Given the description of an element on the screen output the (x, y) to click on. 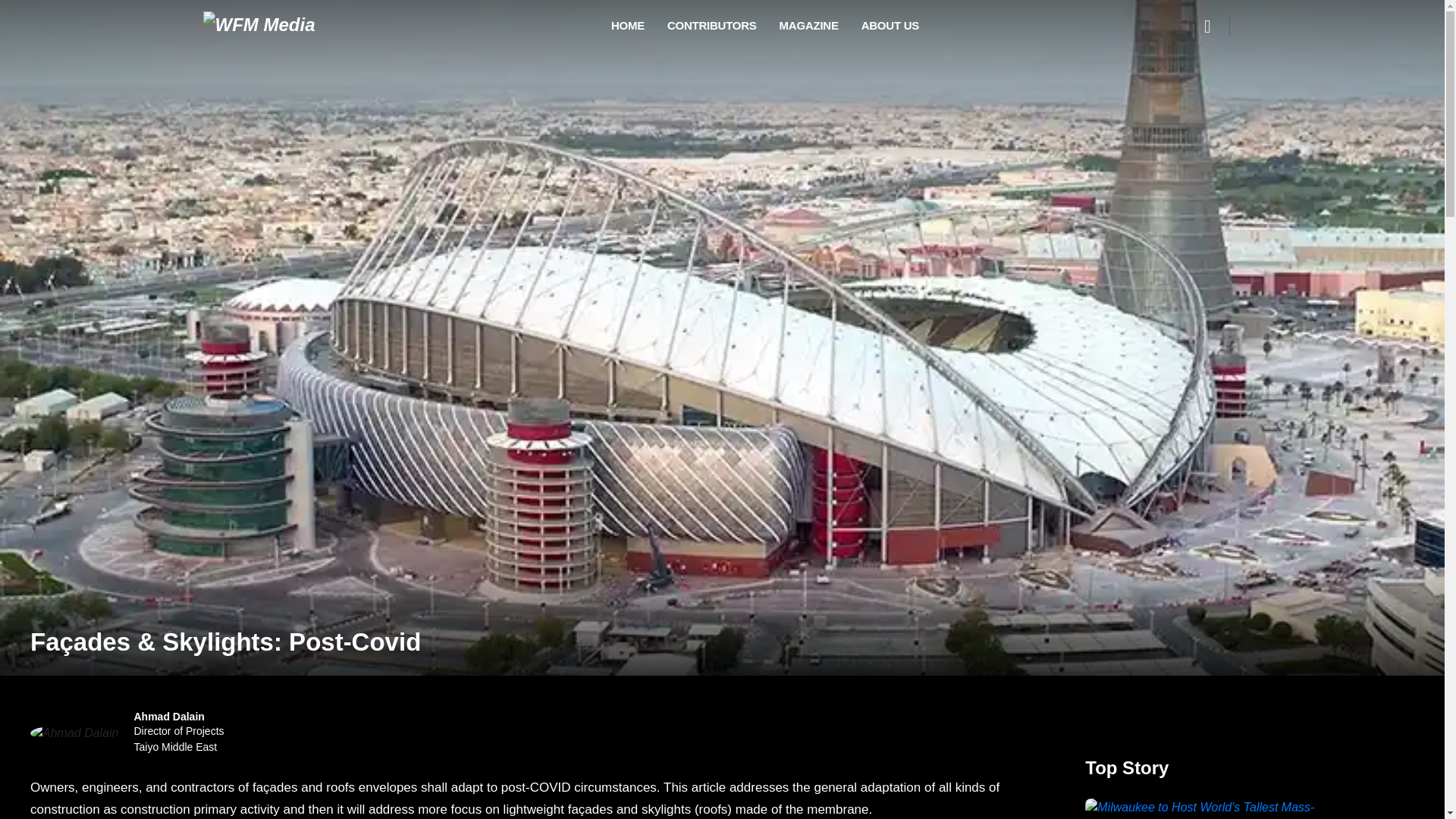
CONTRIBUTORS (711, 26)
HOME (628, 26)
MAGAZINE (178, 732)
ABOUT US (808, 26)
